Given the description of an element on the screen output the (x, y) to click on. 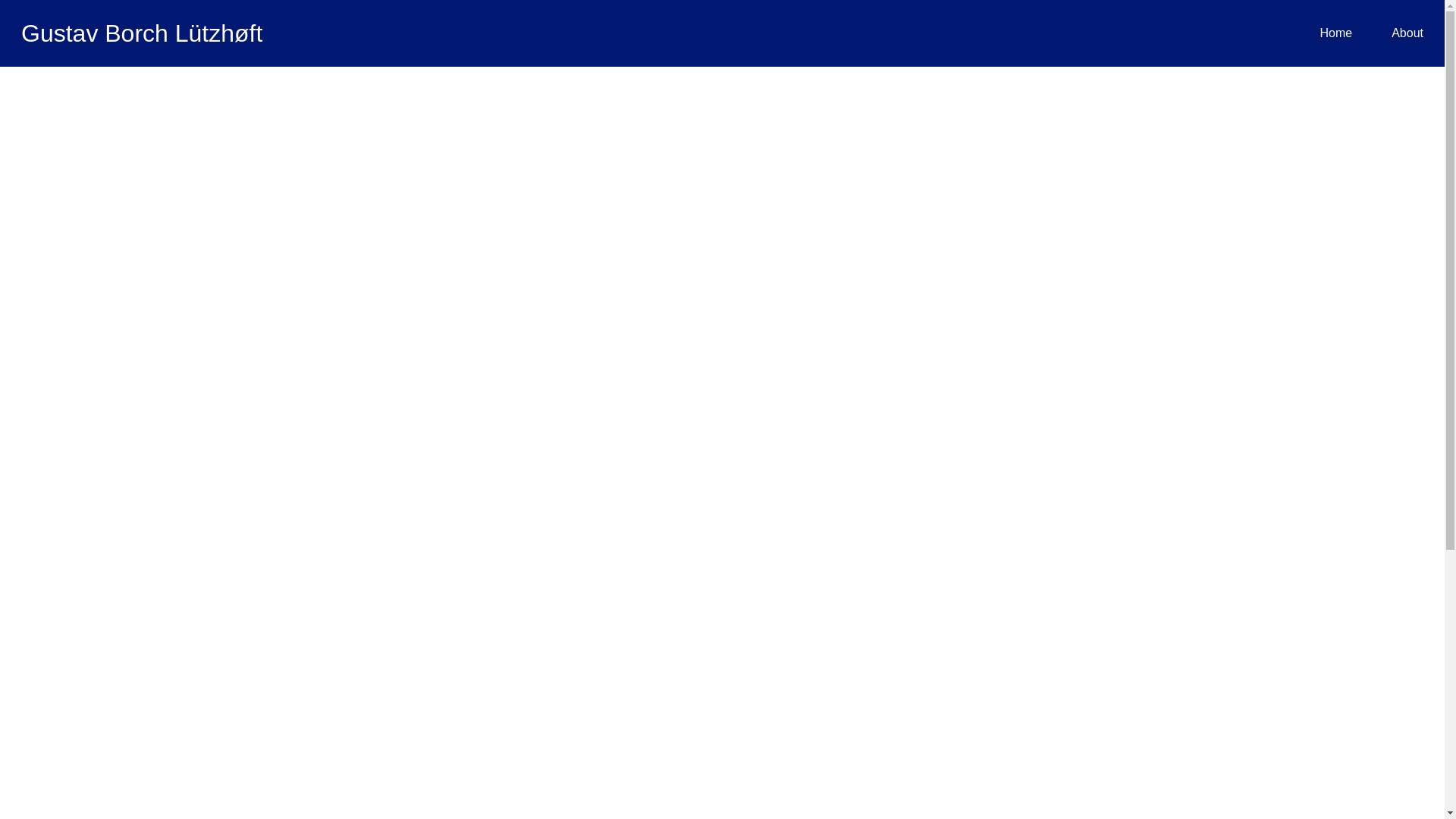
Home (1335, 32)
About (1407, 32)
